Given the description of an element on the screen output the (x, y) to click on. 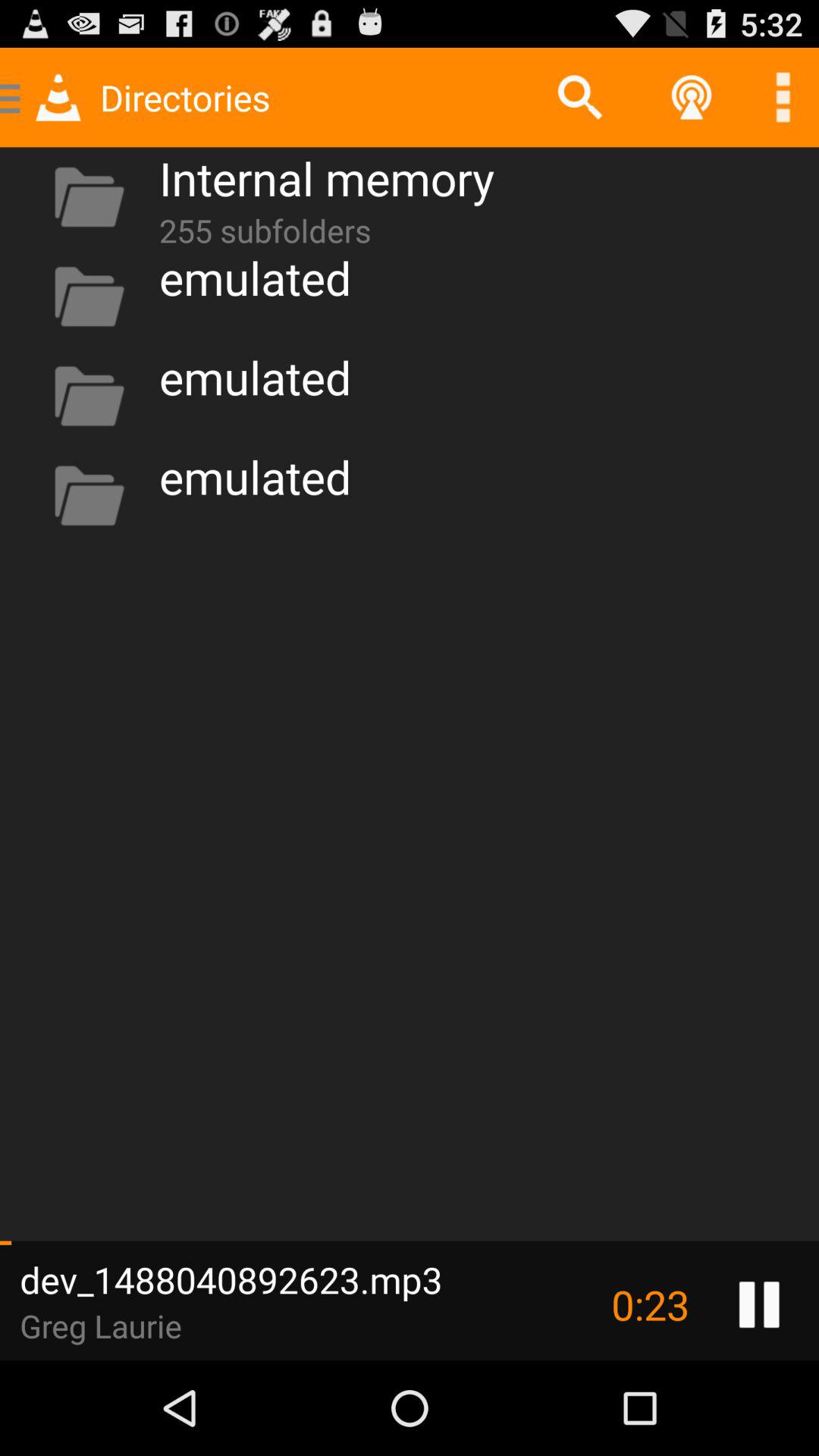
open menu (783, 97)
